Given the description of an element on the screen output the (x, y) to click on. 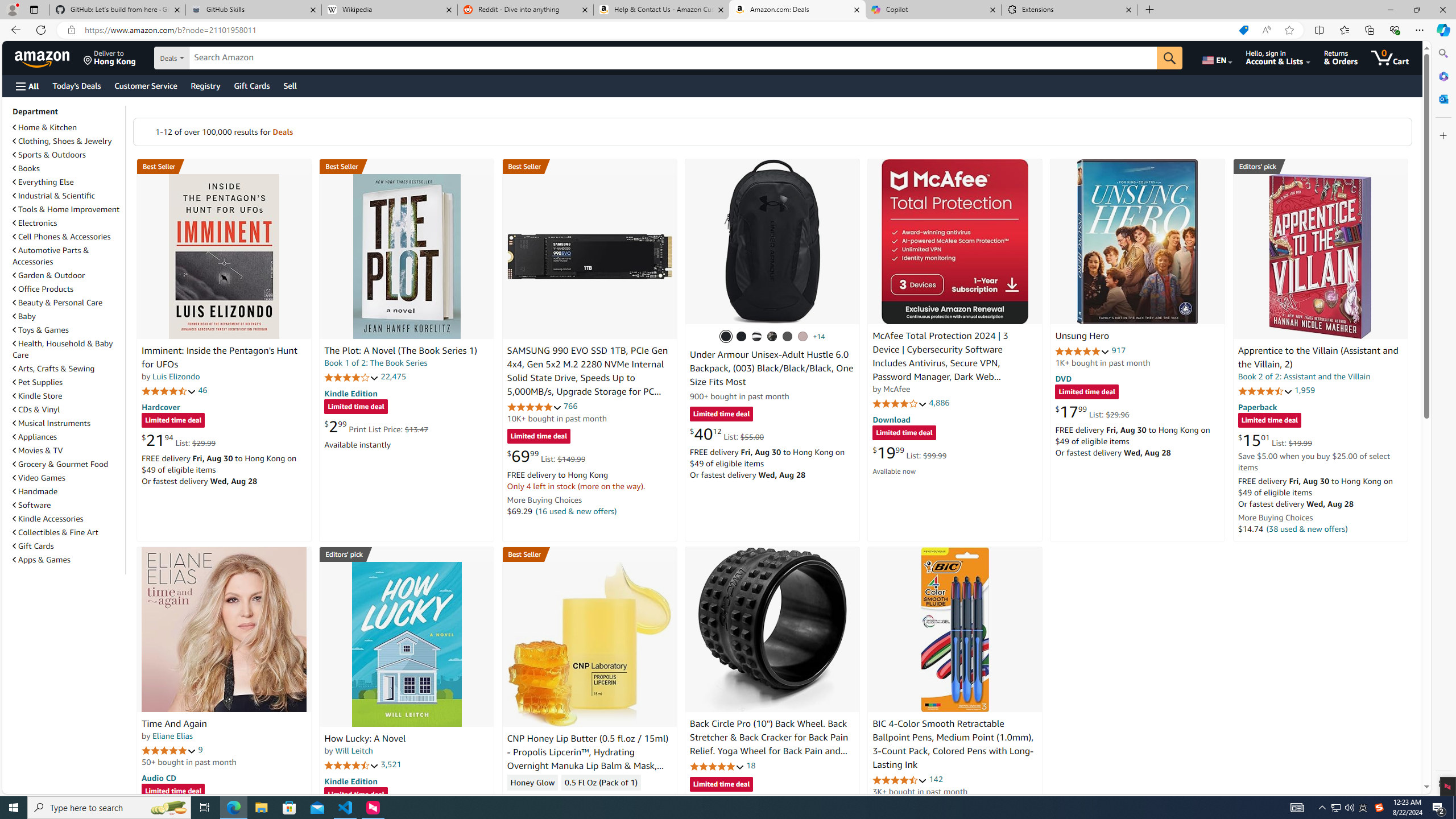
Musical Instruments (67, 423)
Open Menu (26, 86)
4.7 out of 5 stars (168, 390)
Pet Supplies (67, 382)
Office Products (43, 289)
Gift Cards (67, 546)
Beauty & Personal Care (67, 301)
Kindle Edition (350, 780)
CDs & Vinyl (67, 409)
Industrial & Scientific (54, 195)
Collectibles & Fine Art (67, 532)
How Lucky: A Novel (365, 738)
Amazon.com: Deals (797, 9)
Movies & TV (37, 450)
